Given the description of an element on the screen output the (x, y) to click on. 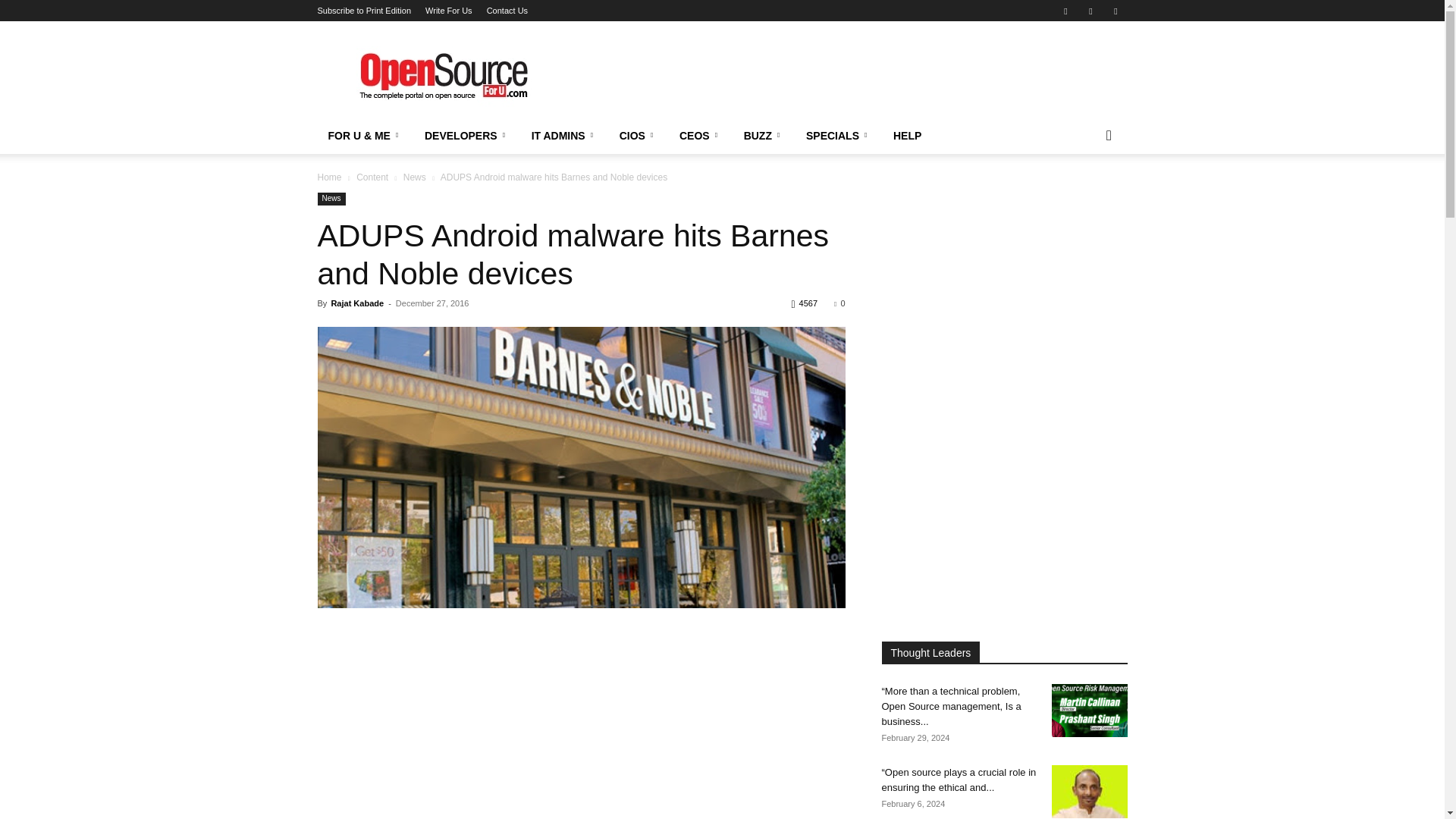
Linkedin (1090, 10)
Contact Us (506, 10)
Write For Us (448, 10)
Twitter (1114, 10)
Facebook (1065, 10)
Subscribe to Print Edition (363, 10)
